Given the description of an element on the screen output the (x, y) to click on. 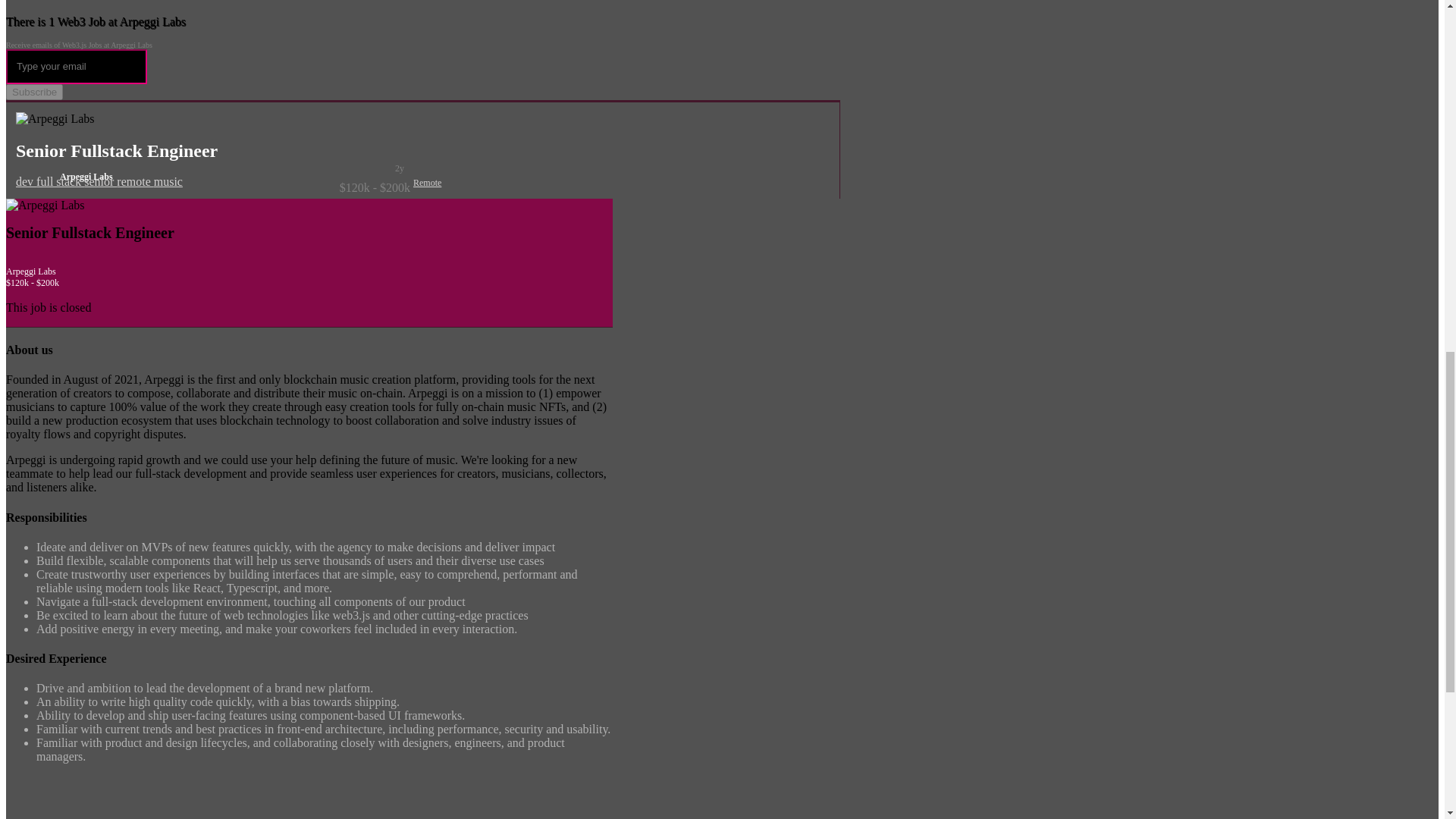
Subscribe (33, 91)
